Given the description of an element on the screen output the (x, y) to click on. 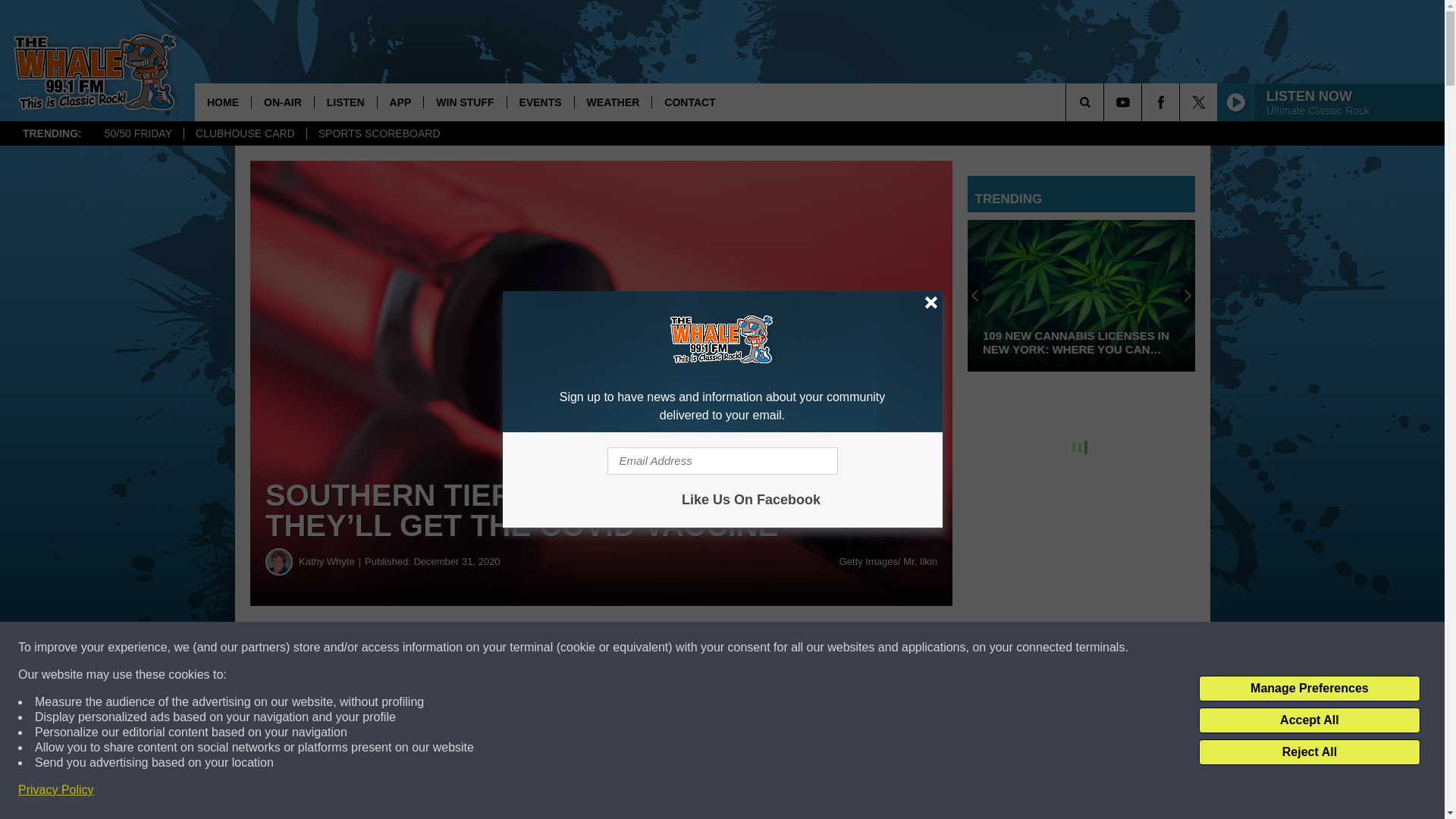
SEARCH (1106, 102)
LISTEN (345, 102)
Share on Twitter (741, 647)
SEARCH (1106, 102)
CLUBHOUSE CARD (244, 133)
TRENDING: (52, 133)
EVENTS (539, 102)
SPORTS SCOREBOARD (378, 133)
WIN STUFF (464, 102)
Share on Facebook (460, 647)
Manage Preferences (1309, 688)
HOME (222, 102)
WEATHER (612, 102)
Accept All (1309, 720)
ON-AIR (282, 102)
